Given the description of an element on the screen output the (x, y) to click on. 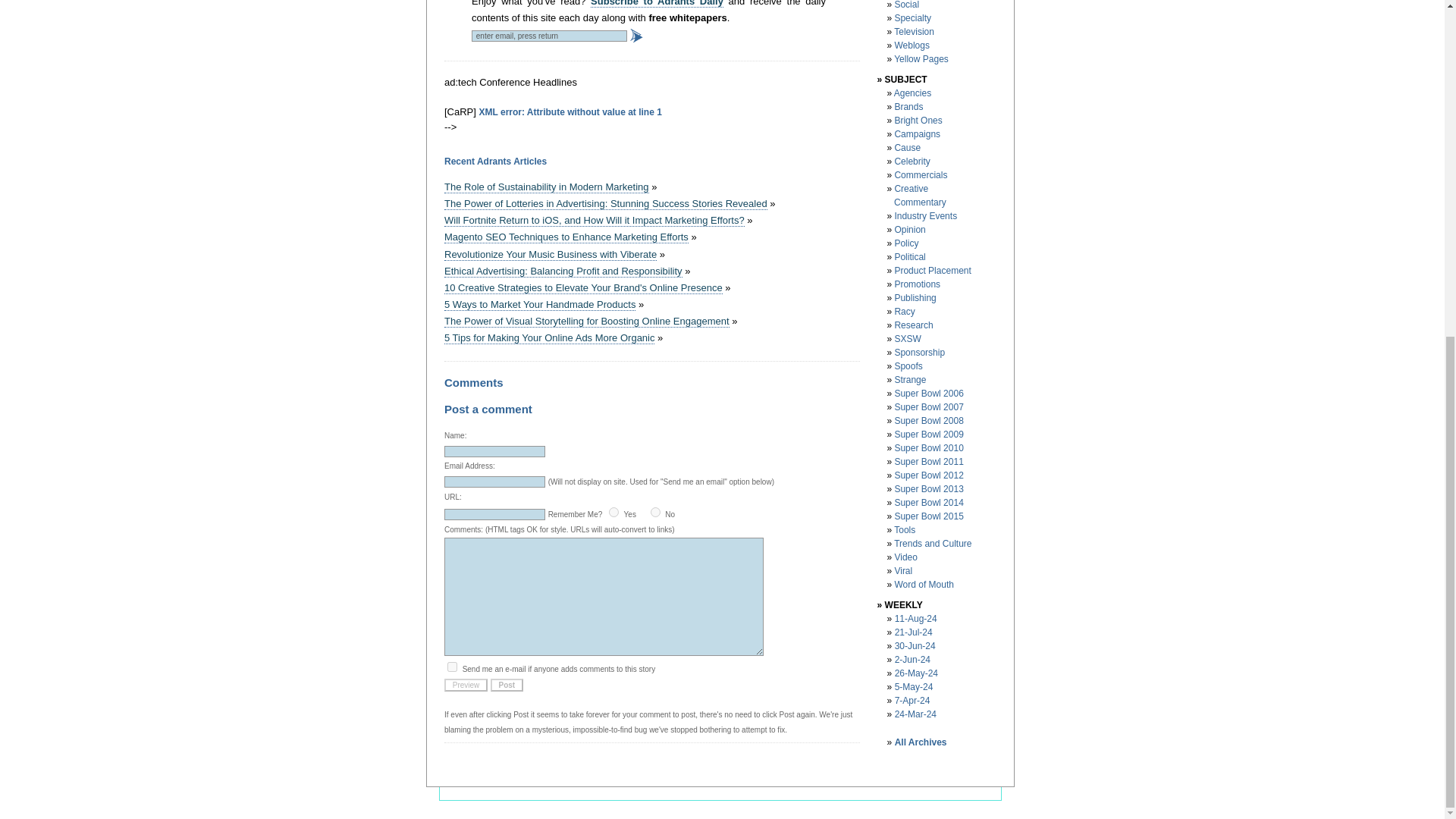
5 Ways to Market Your Handmade Products (539, 304)
The Role of Sustainability in Modern Marketing (546, 186)
Subscribe to Adrants Daily (657, 3)
Forget Info (655, 511)
Ethical Advertising: Balancing Profit and Responsibility (563, 271)
Revolutionize Your Music Business with Viberate (550, 254)
on (613, 511)
